Given the description of an element on the screen output the (x, y) to click on. 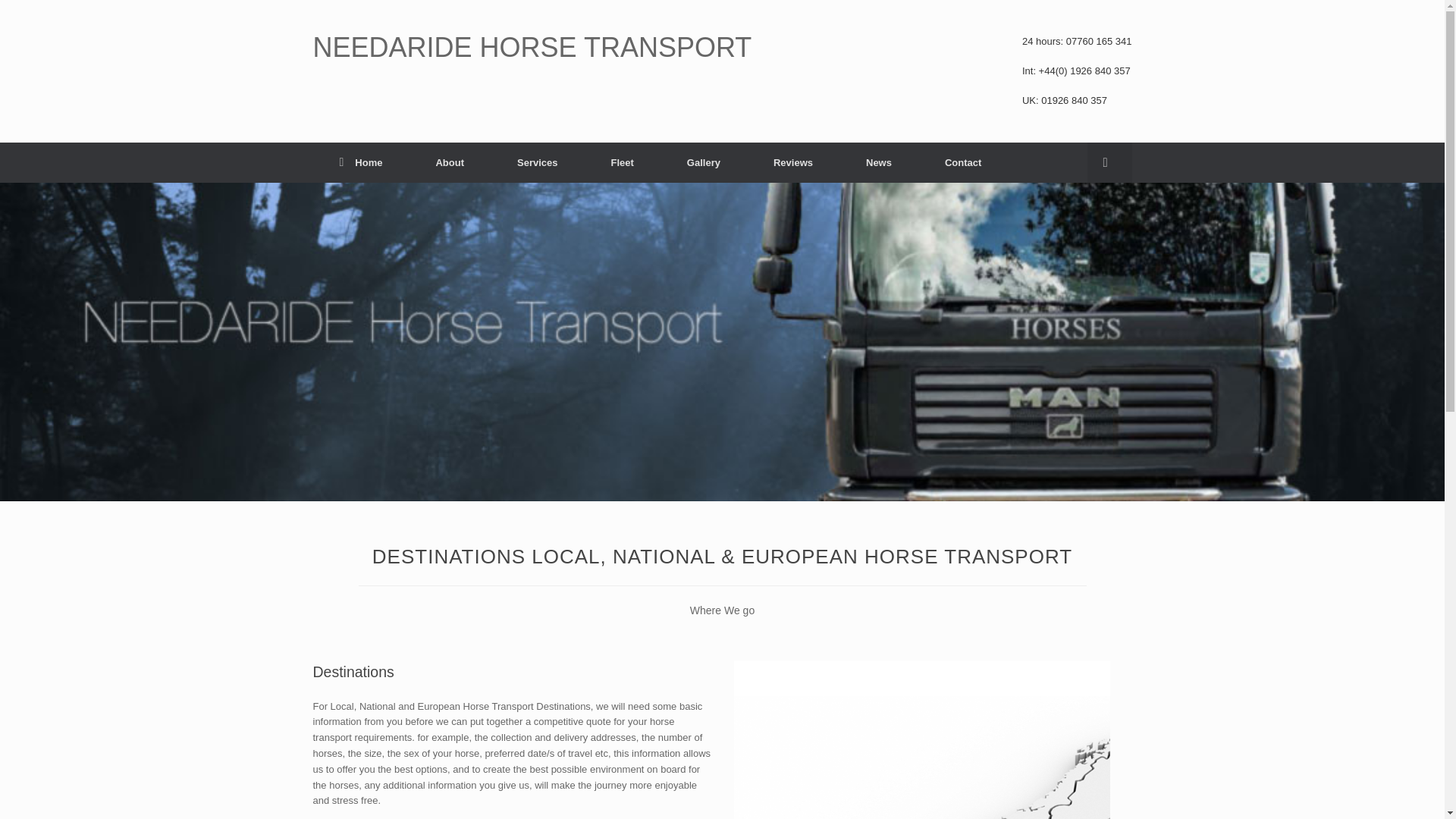
NEEDARIDE HORSE TRANSPORT (532, 47)
Home (361, 162)
Contact (962, 162)
Gallery (703, 162)
Reviews (793, 162)
Fleet (623, 162)
News (879, 162)
Services (537, 162)
About (449, 162)
NEEDARIDE HORSE TRANSPORT (532, 47)
